Given the description of an element on the screen output the (x, y) to click on. 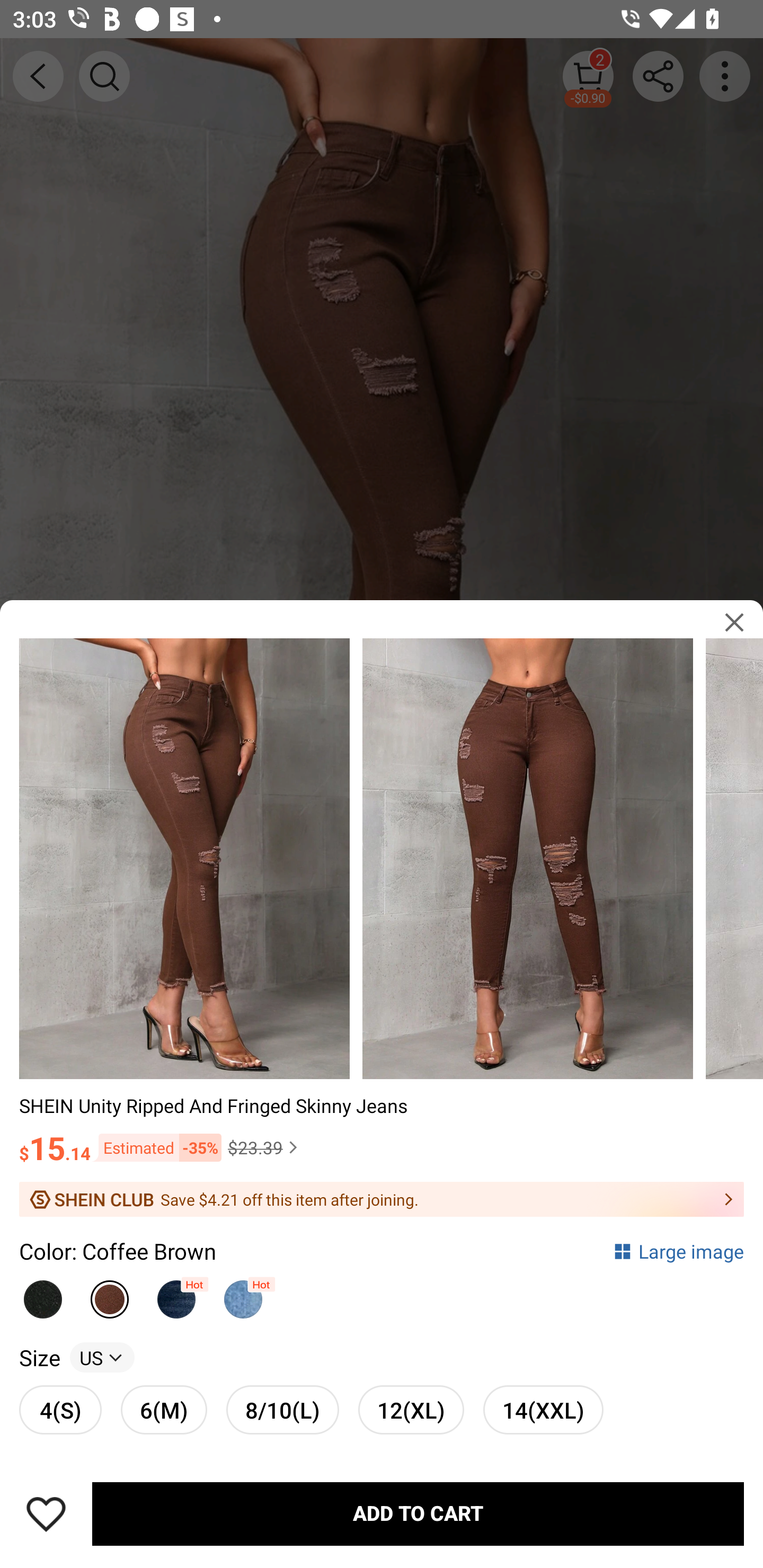
Estimated -35% (155, 1147)
$23.39 (265, 1146)
Save $4.21 off this item after joining. (381, 1199)
Color: Coffee Brown (117, 1250)
Large image (677, 1250)
Black (42, 1294)
Coffee Brown (109, 1294)
Dark Wash (176, 1294)
Light Wash (242, 1294)
Size (39, 1357)
US (102, 1357)
4(S) 4(S)unselected option (60, 1409)
6(M) 6(M)unselected option (163, 1409)
8/10(L) 8/10(L)unselected option (282, 1409)
12(XL) 12(XL)unselected option (410, 1409)
14(XXL) 14(XXL)unselected option (542, 1409)
ADD TO CART (417, 1513)
Save (46, 1513)
